Given the description of an element on the screen output the (x, y) to click on. 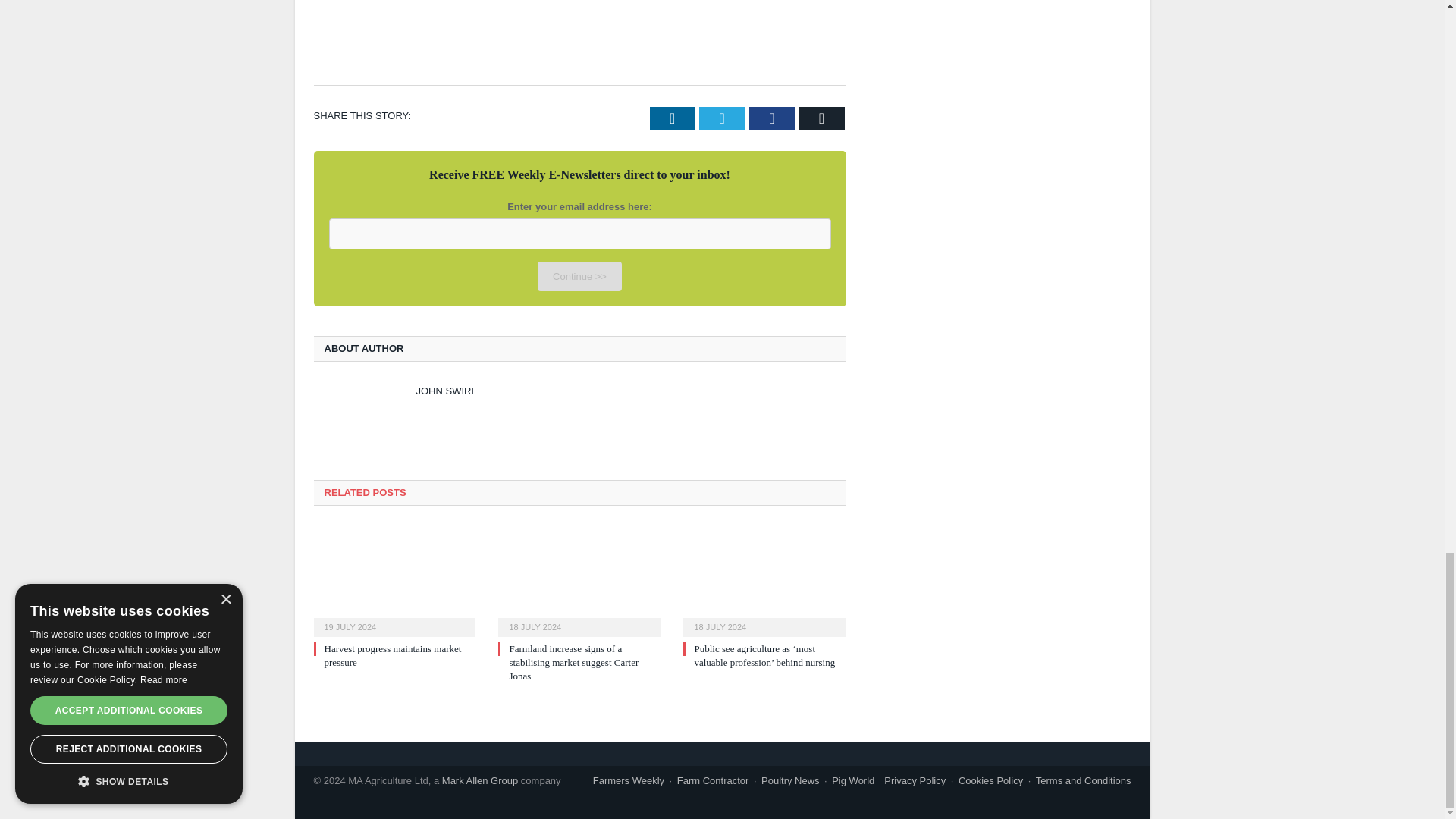
Posts by John Swire (445, 390)
